Given the description of an element on the screen output the (x, y) to click on. 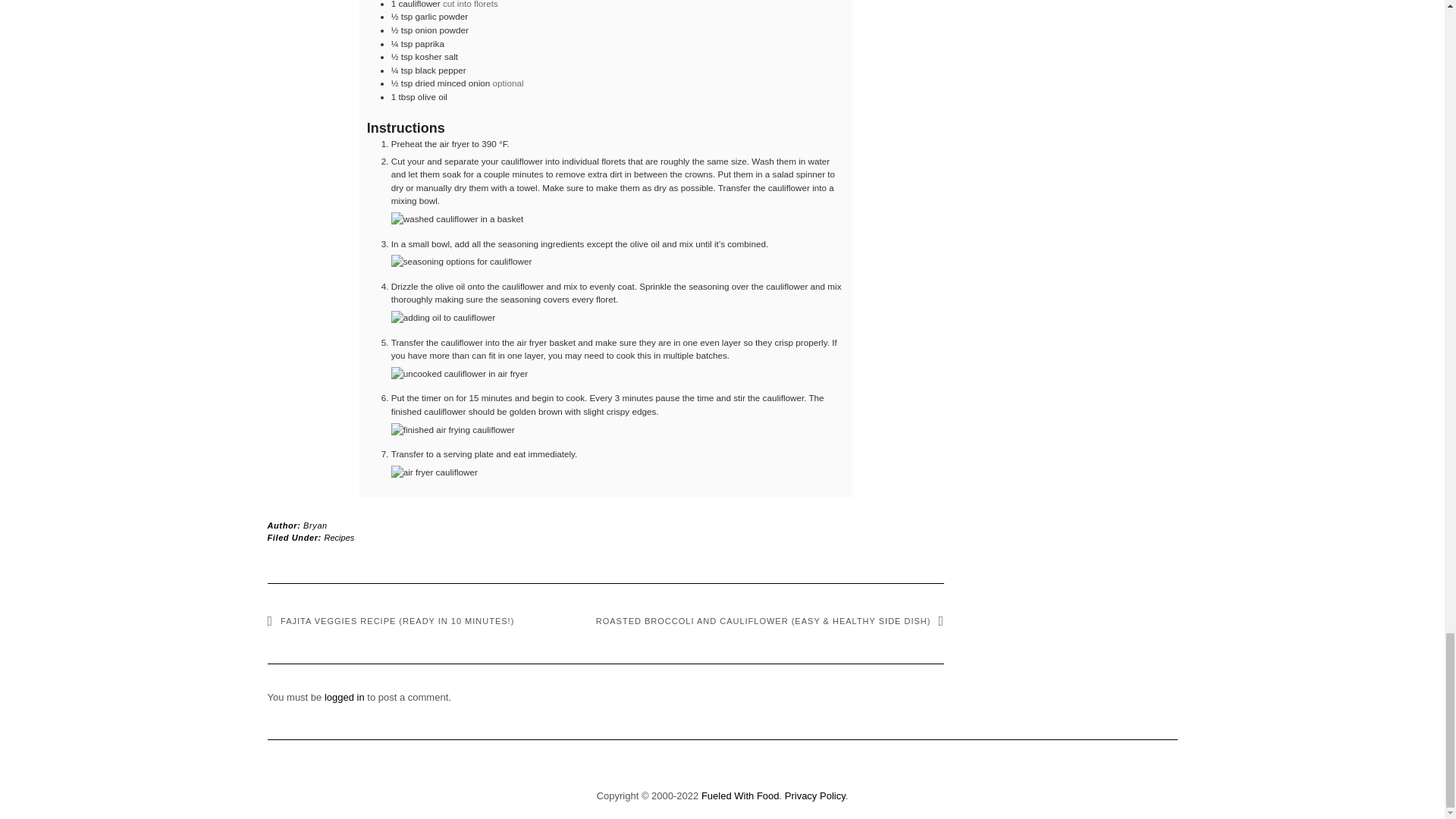
Privacy Policy (814, 795)
Recipes (339, 537)
Fueled With Food (739, 795)
Posts by Bryan (314, 524)
logged in (344, 696)
Bryan (314, 524)
